Given the description of an element on the screen output the (x, y) to click on. 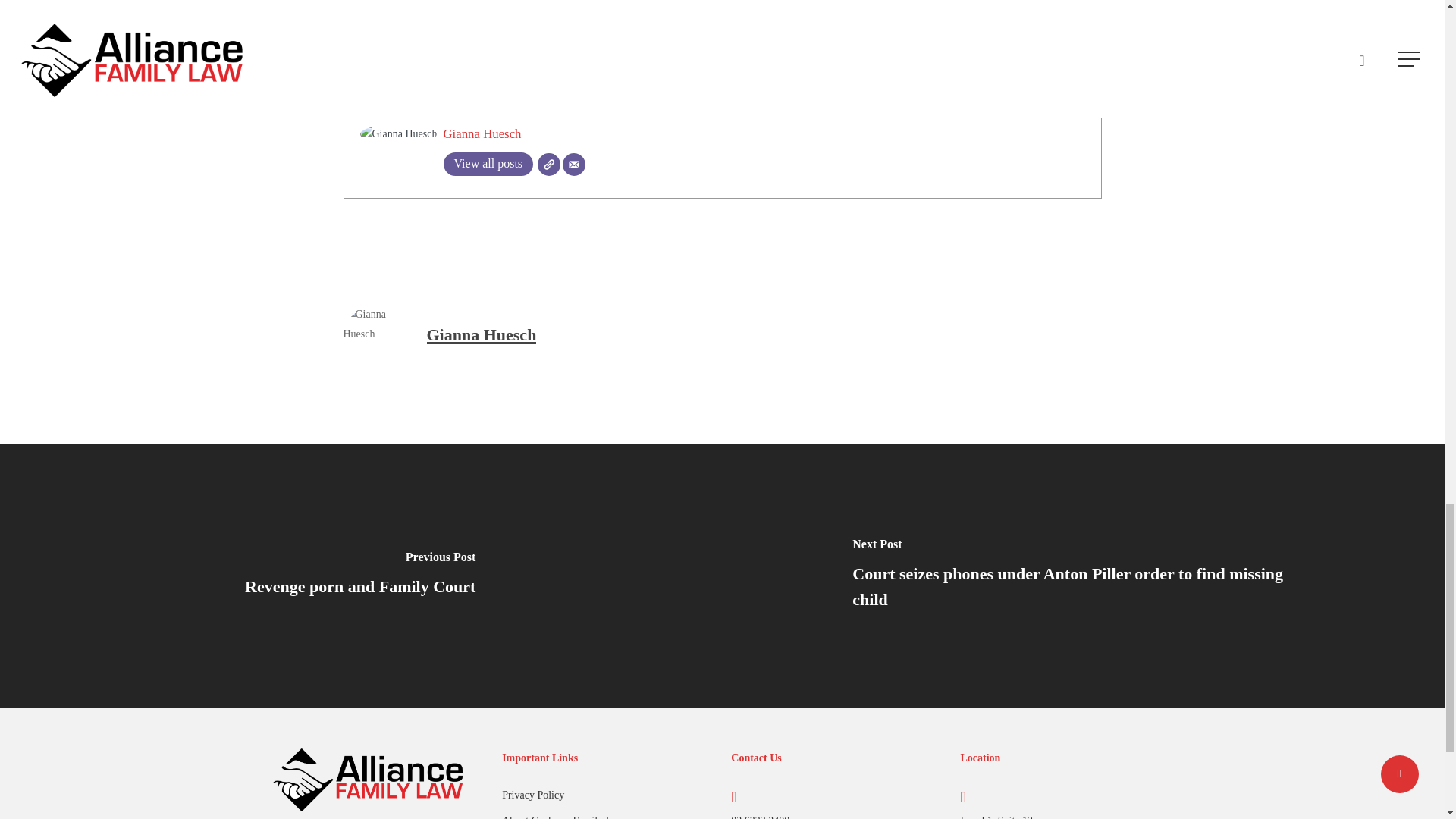
Gianna Huesch (481, 133)
View all posts (487, 164)
02 6223 2400 (759, 816)
Privacy Policy (607, 795)
View all posts (487, 164)
Gianna Huesch (480, 334)
About Canberra Family Law (607, 815)
Gianna Huesch (481, 133)
